Given the description of an element on the screen output the (x, y) to click on. 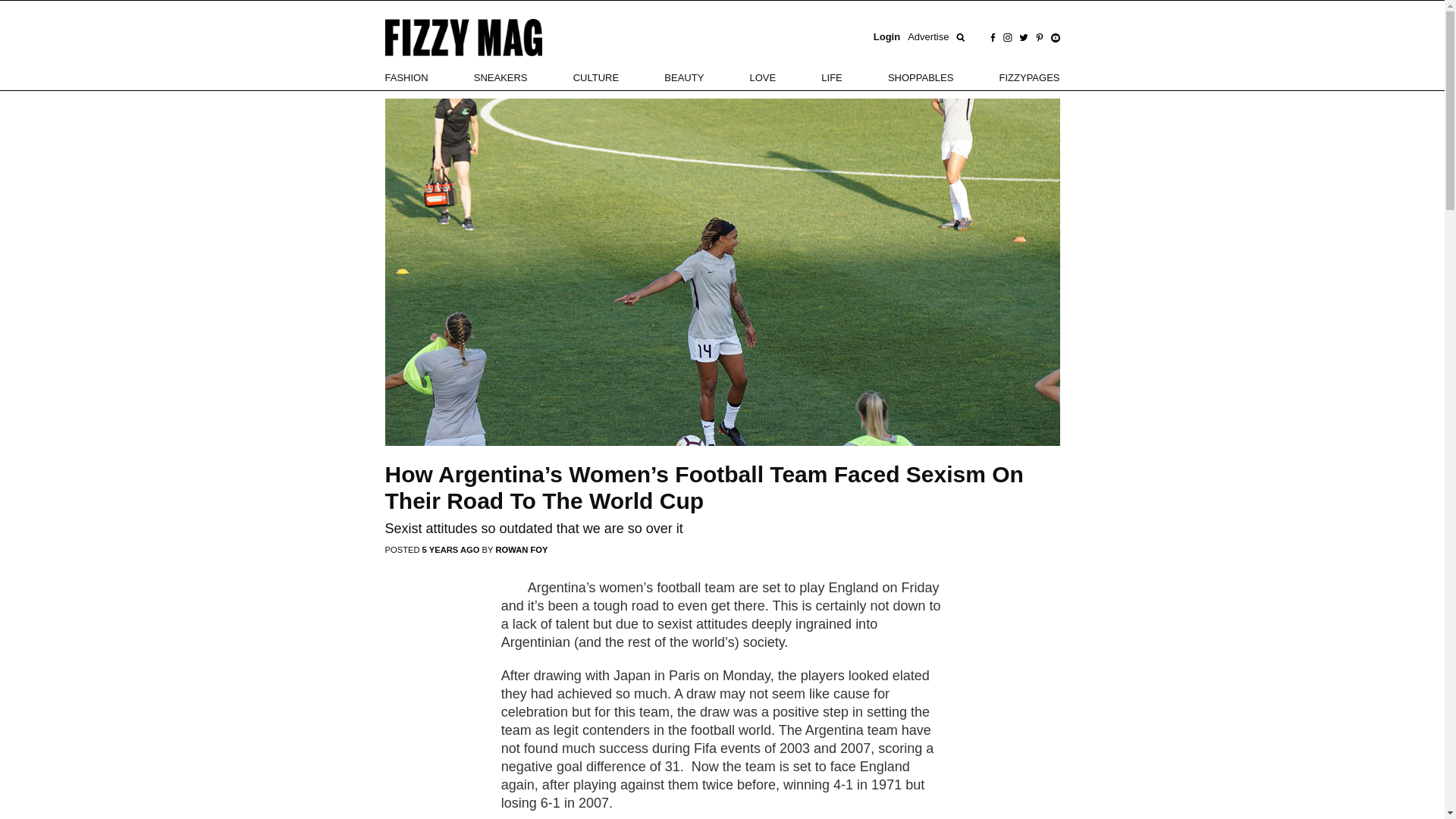
LOVE (762, 77)
LIFE (831, 77)
BEAUTY (683, 77)
Login (886, 37)
18.06.19 08:45 (451, 549)
Advertise (928, 37)
SNEAKERS (500, 77)
CULTURE (595, 77)
FASHION (406, 77)
